Given the description of an element on the screen output the (x, y) to click on. 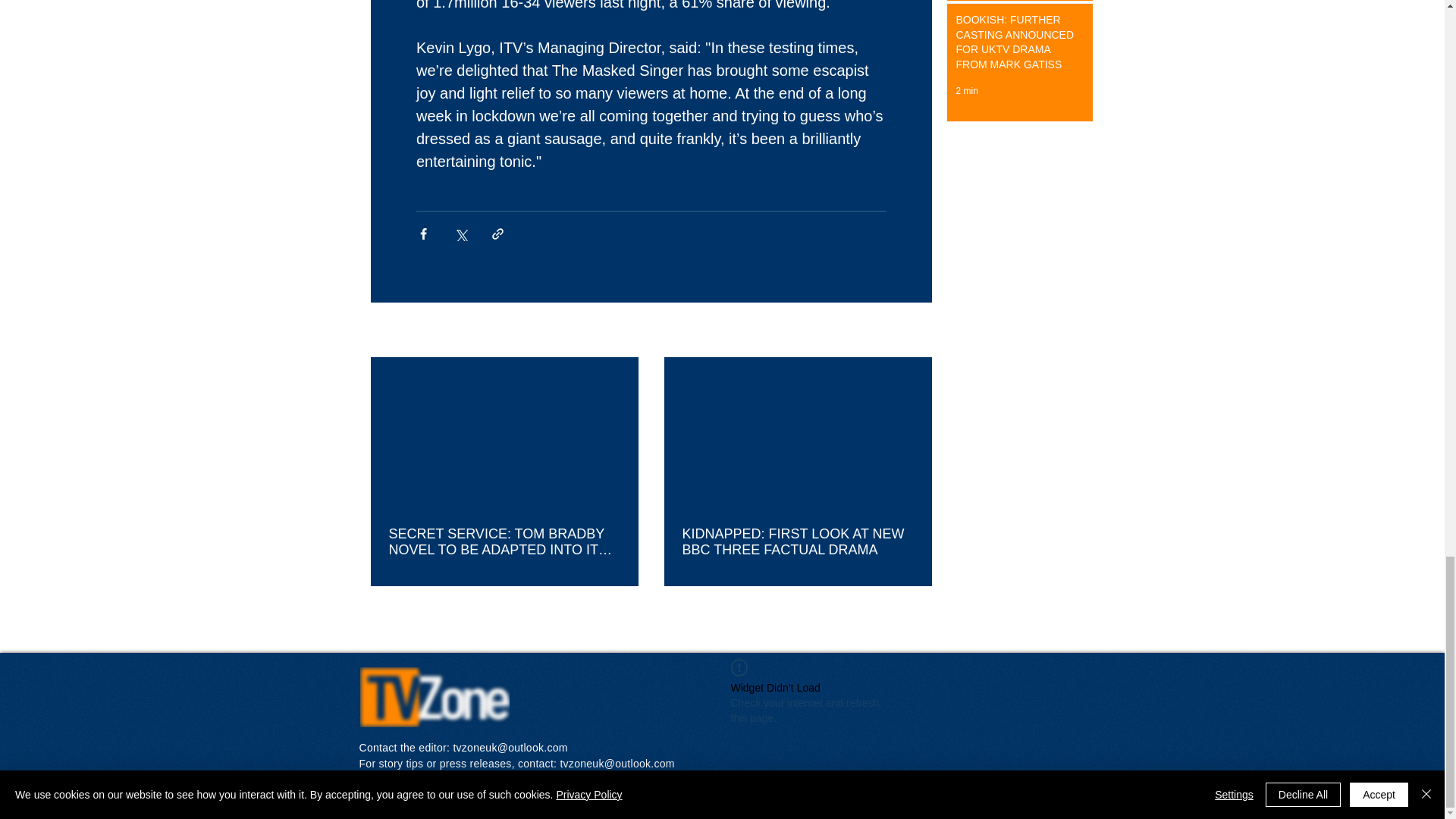
2 min (965, 90)
See All (914, 331)
KIDNAPPED: FIRST LOOK AT NEW BBC THREE FACTUAL DRAMA (798, 541)
